Given the description of an element on the screen output the (x, y) to click on. 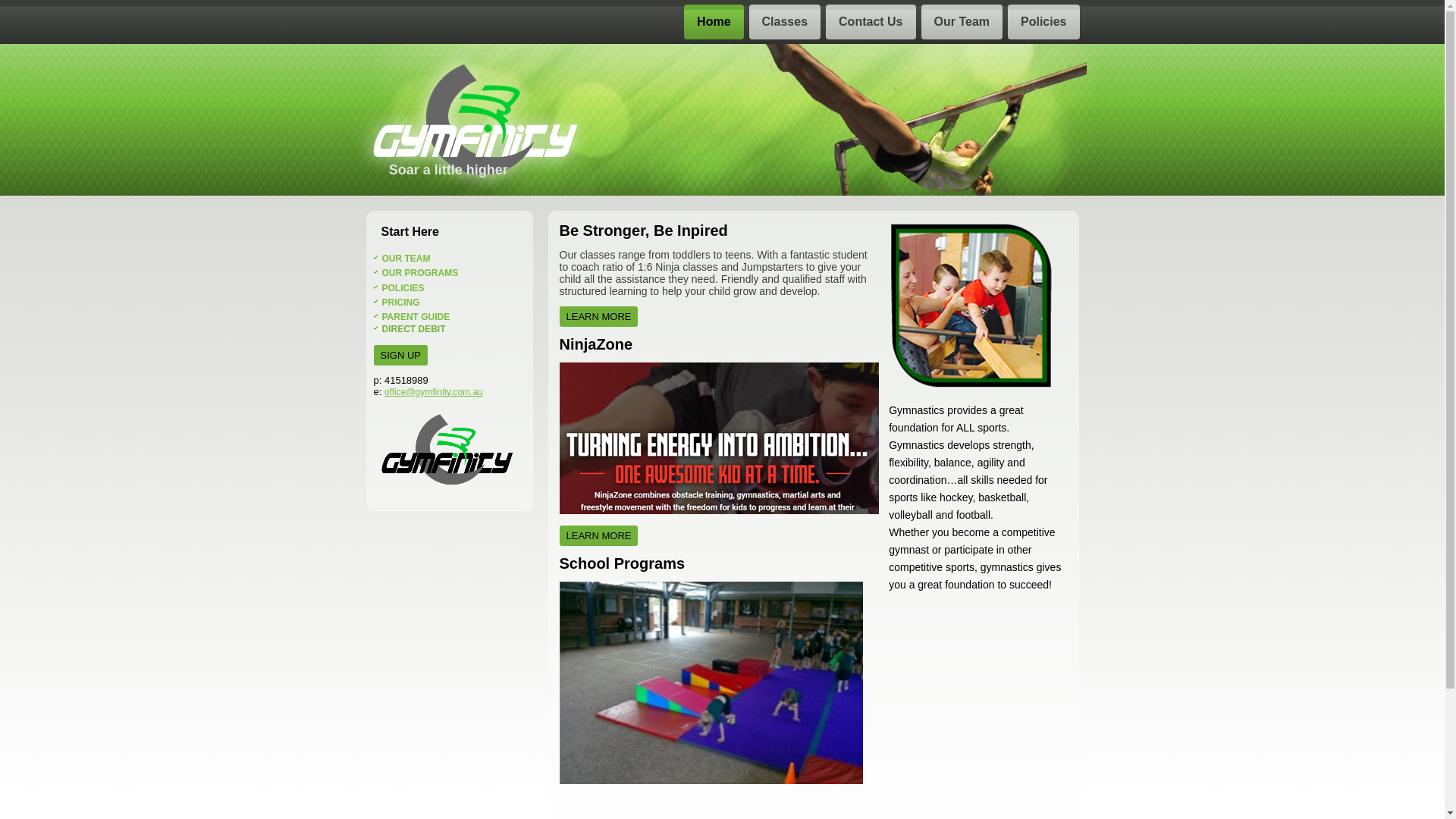
LEARN MORE Element type: text (598, 316)
SIGN UP Element type: text (399, 354)
OUR TEAM Element type: text (406, 258)
Policies Element type: text (1043, 21)
PRICING Element type: text (401, 302)
PARENT GUIDE Element type: text (416, 316)
Home Element type: text (713, 21)
DIRECT DEBIT Element type: text (413, 328)
Classes Element type: text (785, 21)
office@gymfinity.com.au Element type: text (433, 391)
OUR PROGRAMS Element type: text (420, 272)
Contact Us Element type: text (870, 21)
LEARN MORE Element type: text (598, 535)
POLICIES Element type: text (403, 287)
Our Team Element type: text (962, 21)
